Given the description of an element on the screen output the (x, y) to click on. 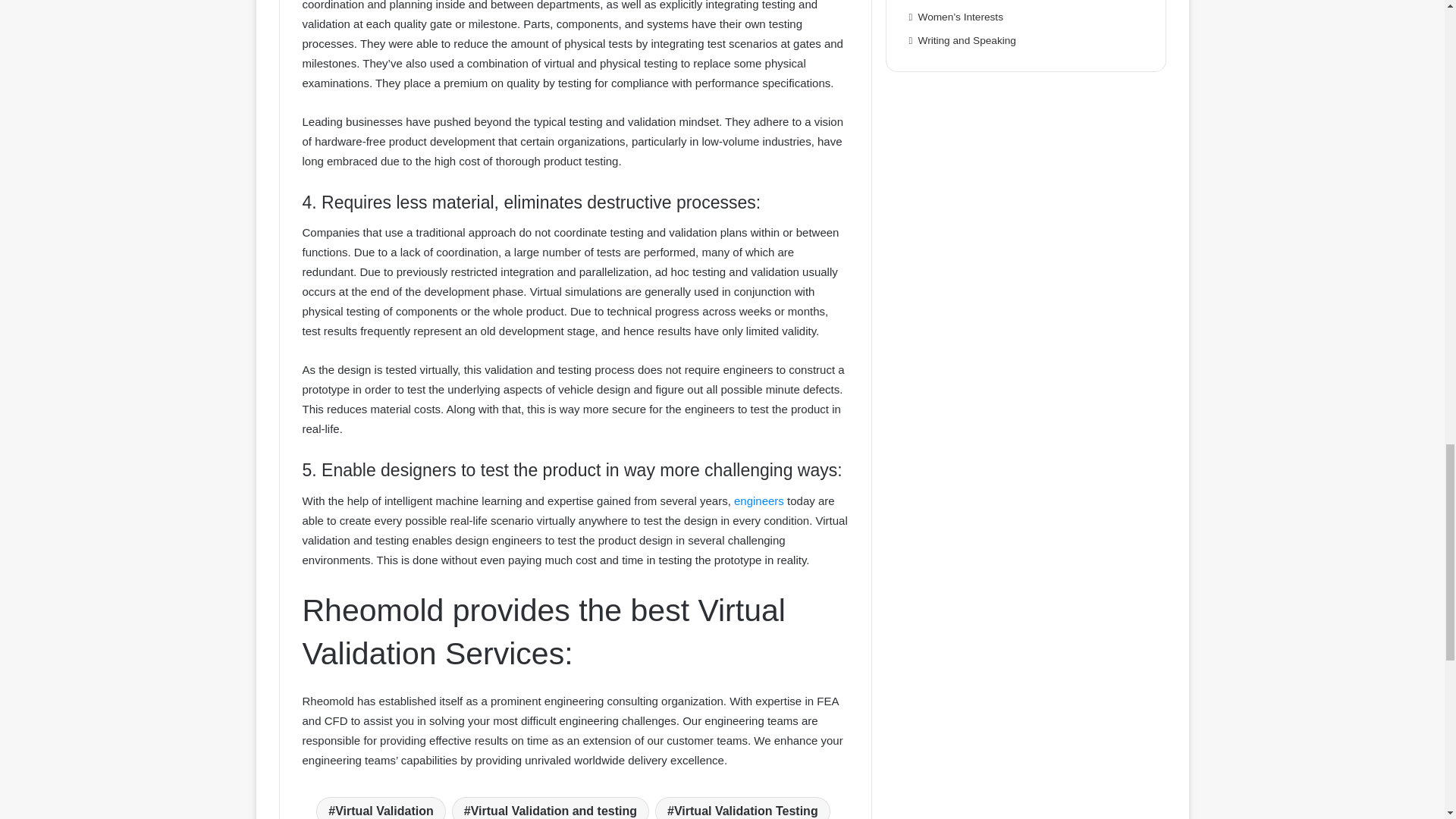
Virtual Validation (380, 807)
Virtual Validation Testing (742, 807)
Virtual Validation and testing (550, 807)
engineers (758, 500)
